Given the description of an element on the screen output the (x, y) to click on. 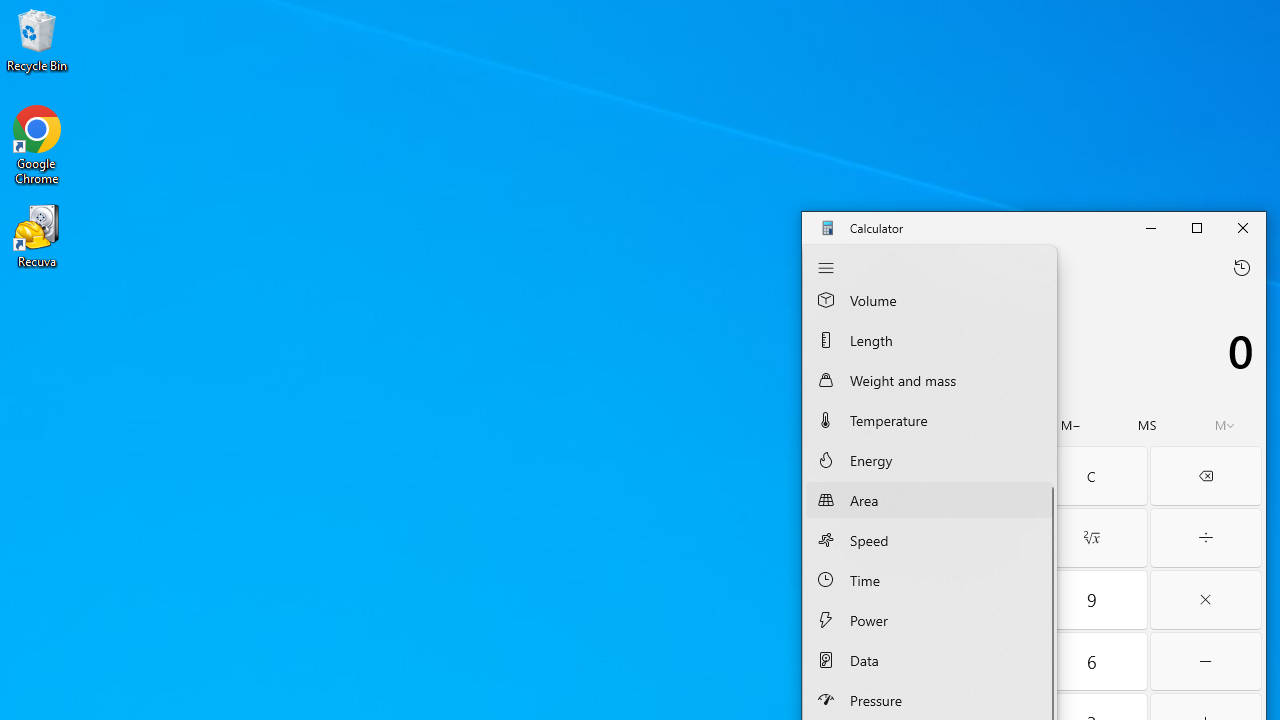
Open memory flyout (1224, 425)
Memory add (994, 425)
Clear all memory (843, 425)
Five (977, 661)
Nine (1091, 600)
Seven (862, 600)
Memory recall (918, 425)
Square root (1091, 538)
Close Calculator (1242, 227)
Eight (977, 600)
Vertical Large Decrease (1050, 391)
Clear (1091, 475)
Reciprocal (862, 538)
Open history flyout (1242, 267)
Clear entry (976, 475)
